Given the description of an element on the screen output the (x, y) to click on. 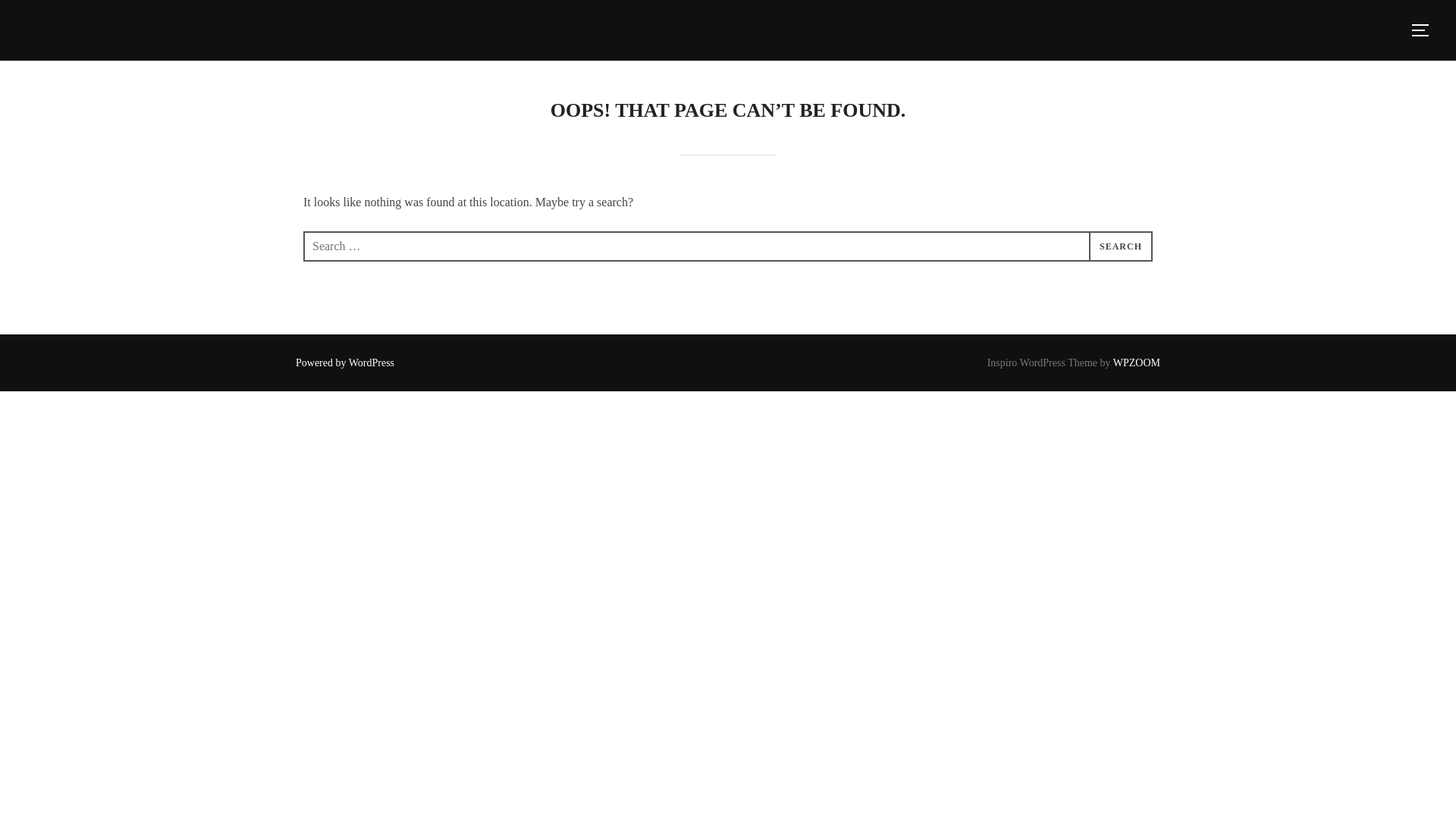
WPZOOM (1136, 362)
Powered by WordPress (344, 362)
SEARCH (1121, 245)
